Given the description of an element on the screen output the (x, y) to click on. 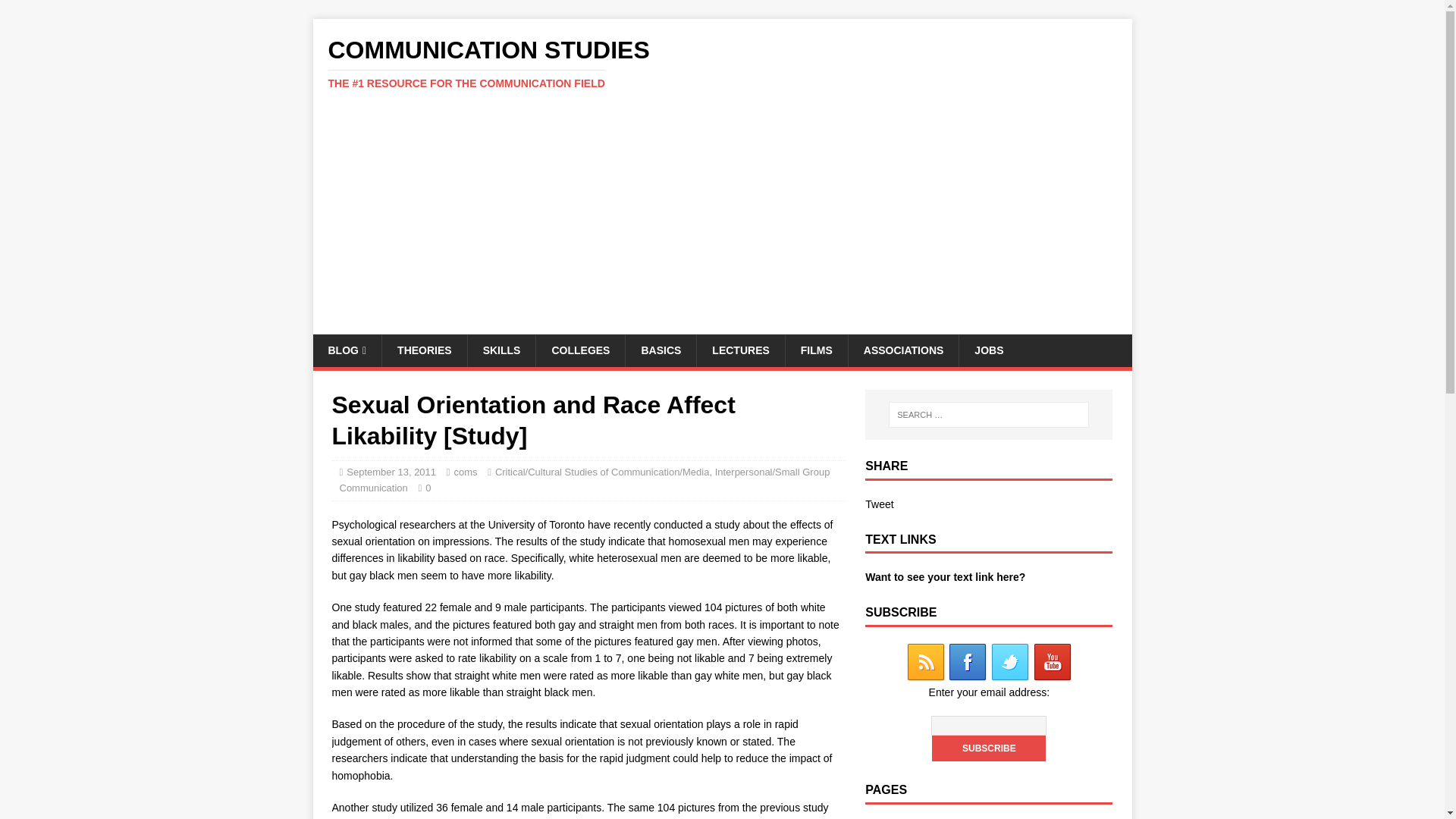
BLOG (347, 350)
THEORIES (424, 350)
Communication Colleges (579, 350)
September 13, 2011 (390, 471)
Subscribe (988, 748)
COLLEGES (579, 350)
FILMS (815, 350)
ASSOCIATIONS (903, 350)
BASICS (659, 350)
Communication Studies (347, 350)
Communication Skills (501, 350)
SKILLS (501, 350)
LECTURES (739, 350)
JOBS (987, 350)
Communication Studies (721, 63)
